Given the description of an element on the screen output the (x, y) to click on. 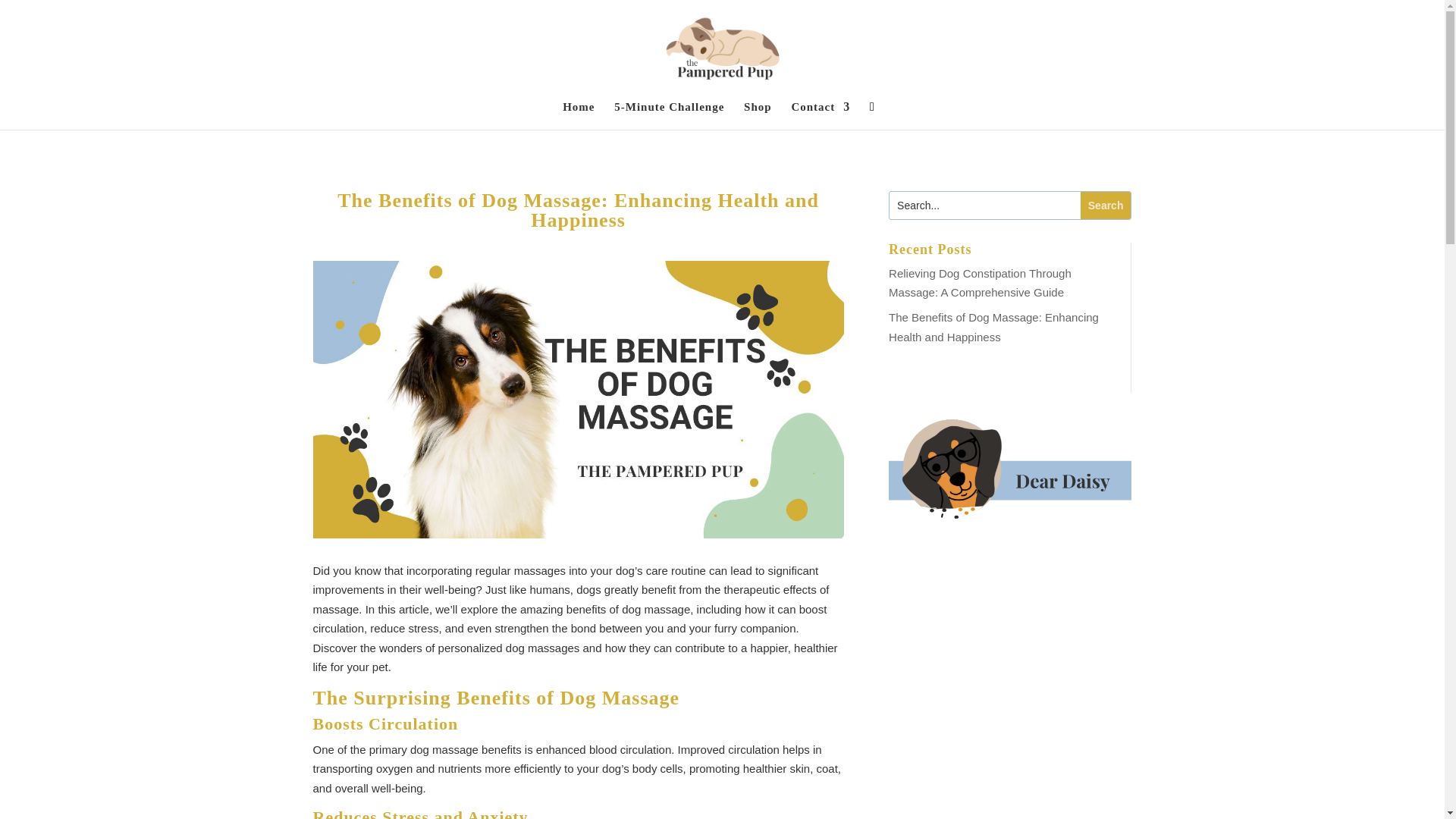
Contact (820, 115)
Search (1105, 205)
Home (578, 115)
Shop (757, 115)
Search (1105, 205)
The Benefits of Dog Massage: Enhancing Health and Happiness (993, 327)
The-Pampered-Pup-Dear-Daisy-Sidebar (1009, 469)
Search (1105, 205)
5-Minute Challenge (668, 115)
